Given the description of an element on the screen output the (x, y) to click on. 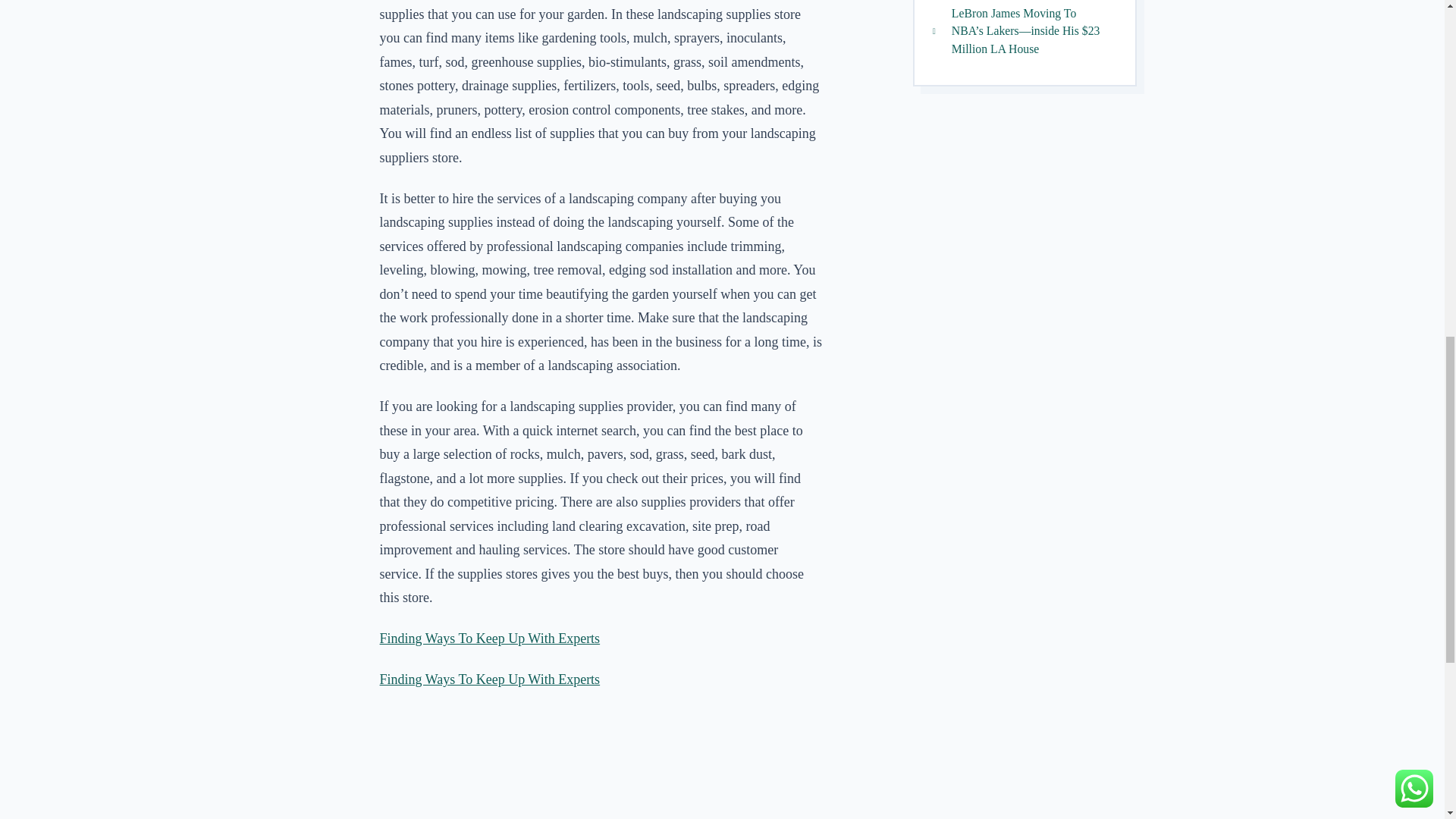
Finding Ways To Keep Up With Experts (489, 679)
Finding Ways To Keep Up With Experts (489, 638)
